Given the description of an element on the screen output the (x, y) to click on. 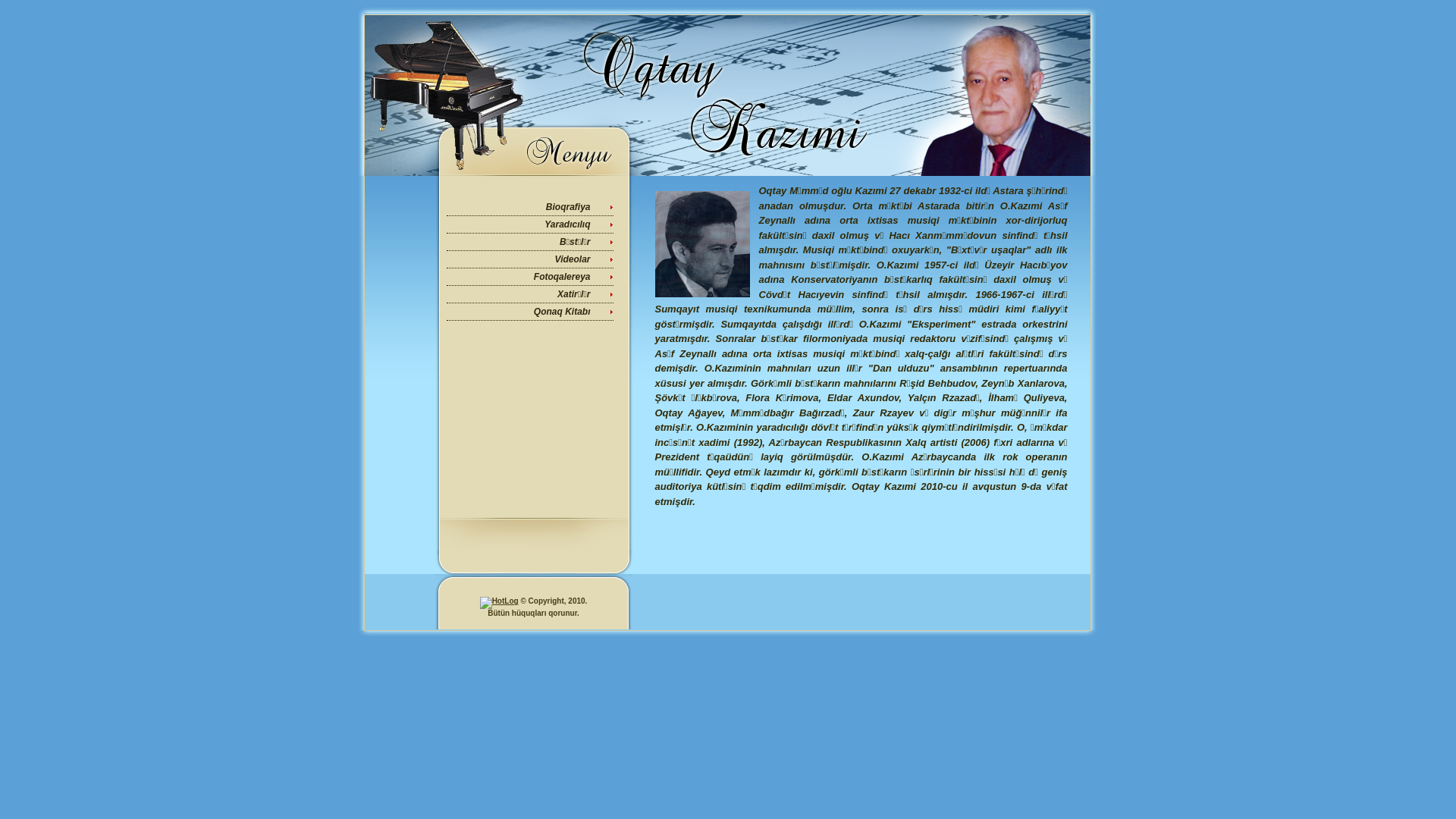
Fotoqalereya Element type: text (561, 276)
Bioqrafiya Element type: text (568, 206)
Videolar Element type: text (572, 259)
